Given the description of an element on the screen output the (x, y) to click on. 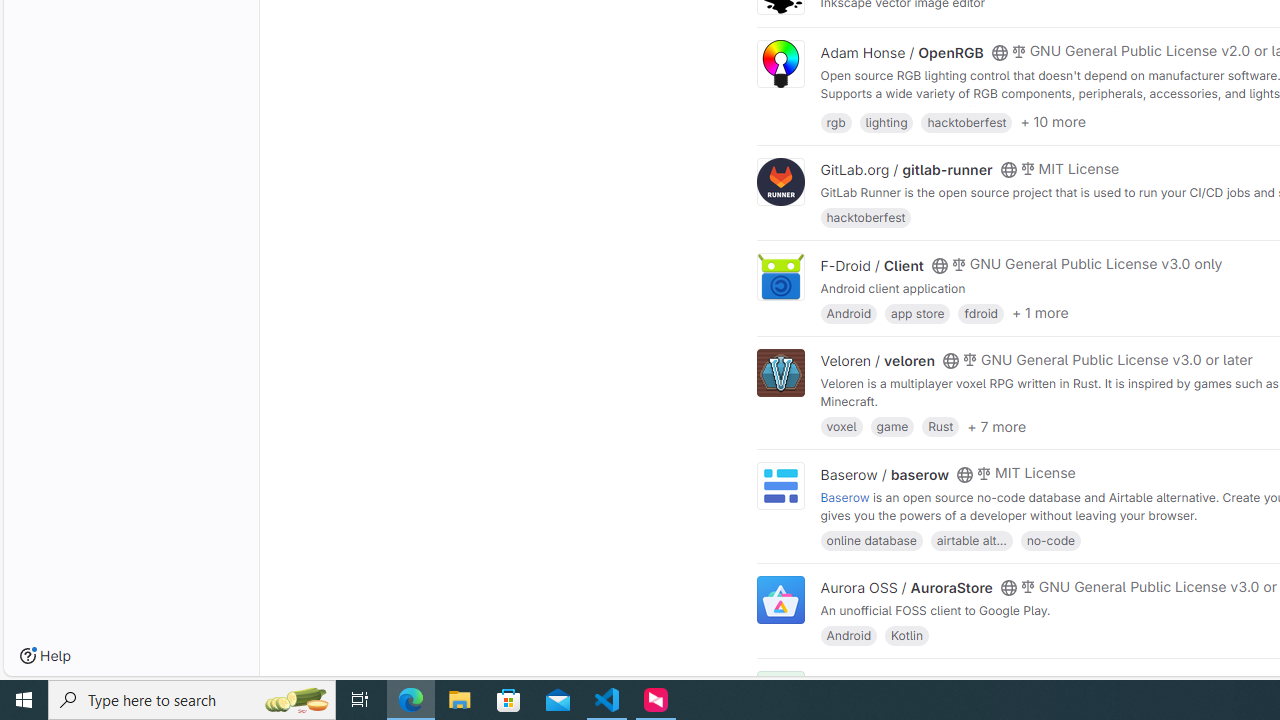
voxel (841, 426)
no-code (1050, 539)
Edouard Klein / falsisign (902, 682)
Android (848, 634)
hacktoberfest (866, 217)
lighting (886, 120)
game (892, 426)
Class: s16 (999, 683)
Veloren / veloren (877, 361)
Rust (940, 426)
app store (917, 312)
+ 10 more (1053, 121)
Adam Honse / OpenRGB (902, 52)
fdroid (980, 312)
